Given the description of an element on the screen output the (x, y) to click on. 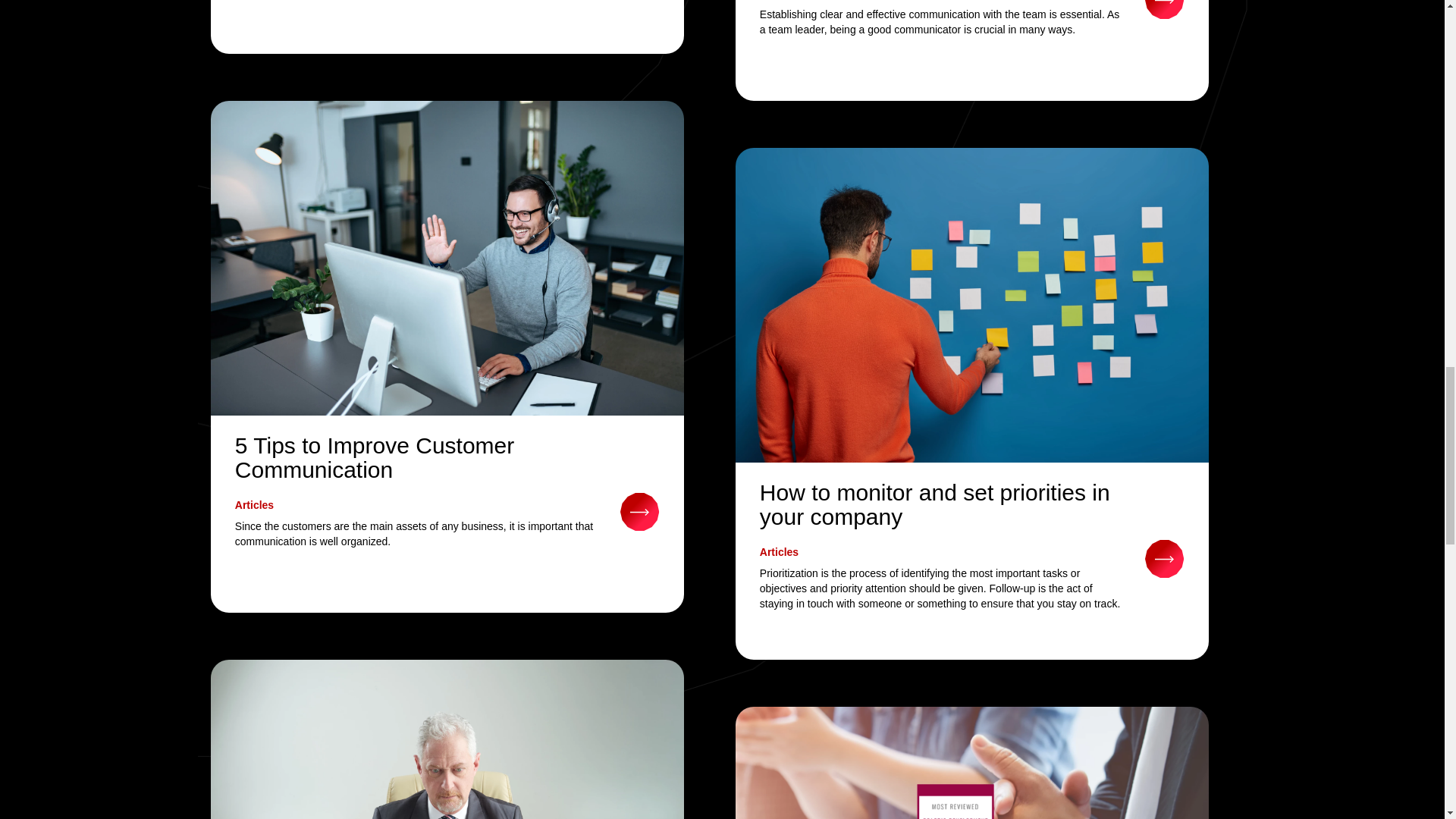
button-let-talk (1164, 9)
button-let-talk (639, 509)
button-let-talk (1164, 557)
